Given the description of an element on the screen output the (x, y) to click on. 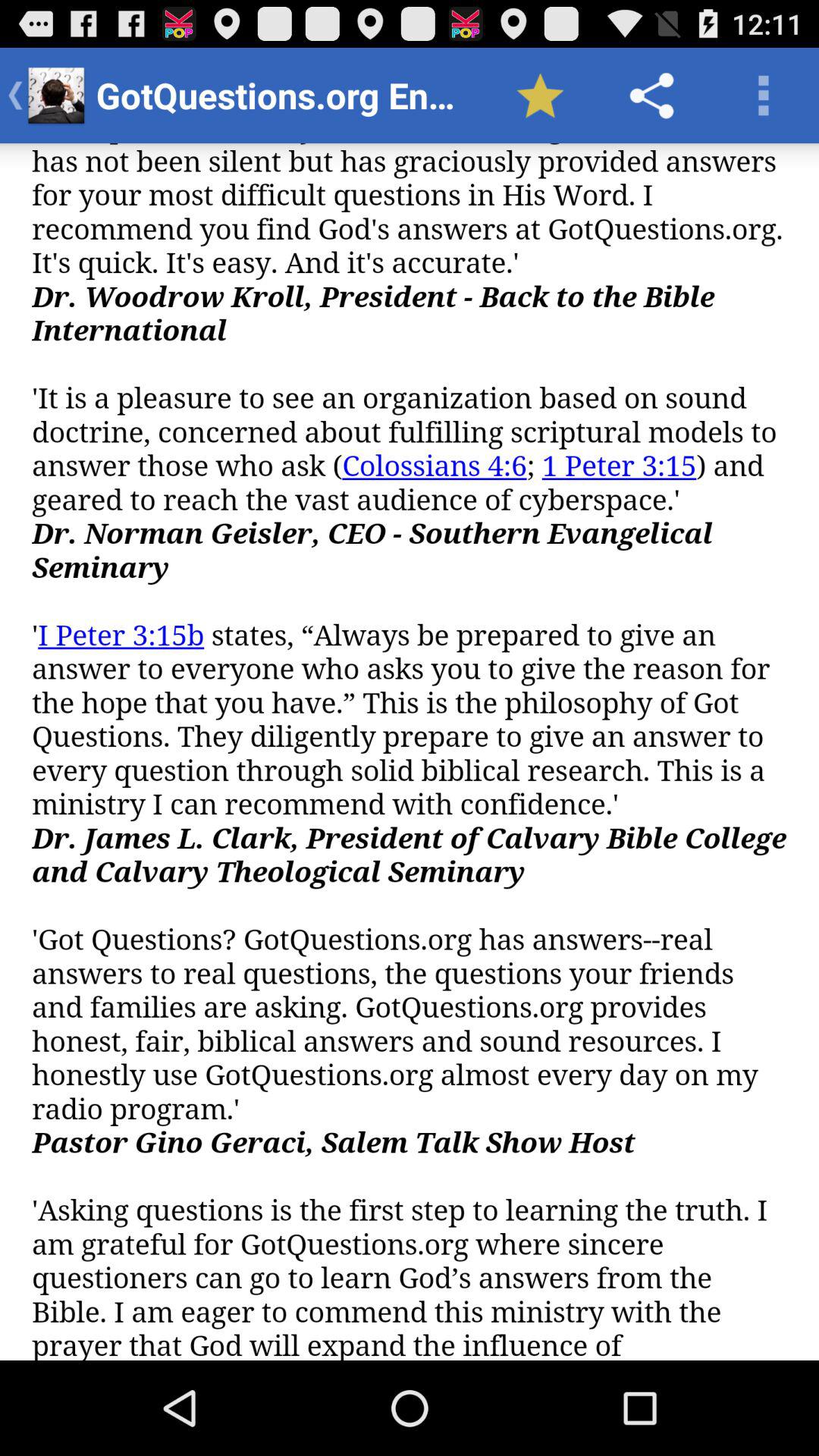
scroll page (409, 751)
